Given the description of an element on the screen output the (x, y) to click on. 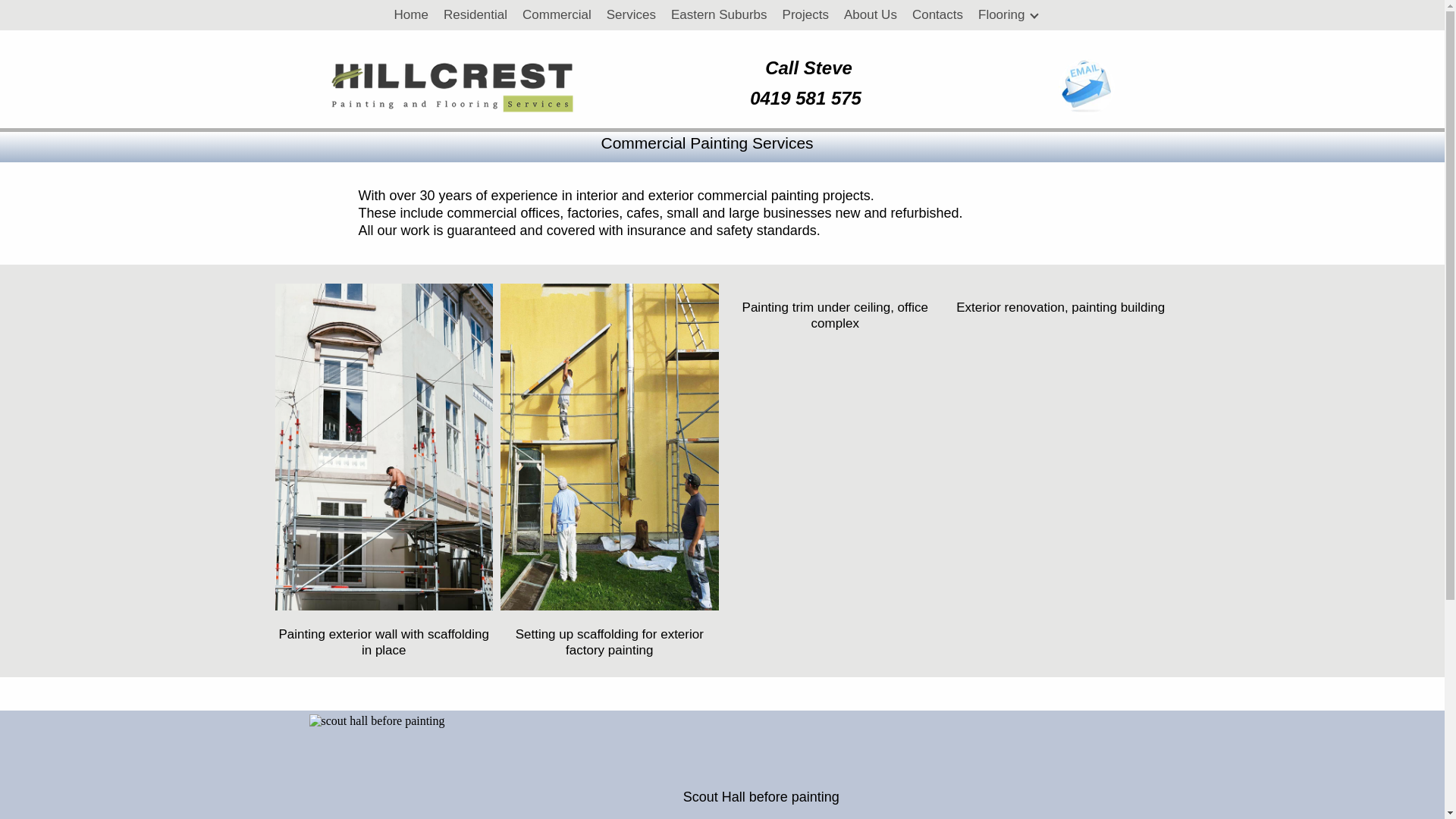
Projects Element type: text (805, 15)
Home Element type: text (411, 15)
Residential Element type: text (475, 15)
Contacts Element type: text (937, 15)
Commercial Element type: text (556, 15)
About Us Element type: text (870, 15)
Services Element type: text (631, 15)
Eastern Suburbs Element type: text (719, 15)
